Given the description of an element on the screen output the (x, y) to click on. 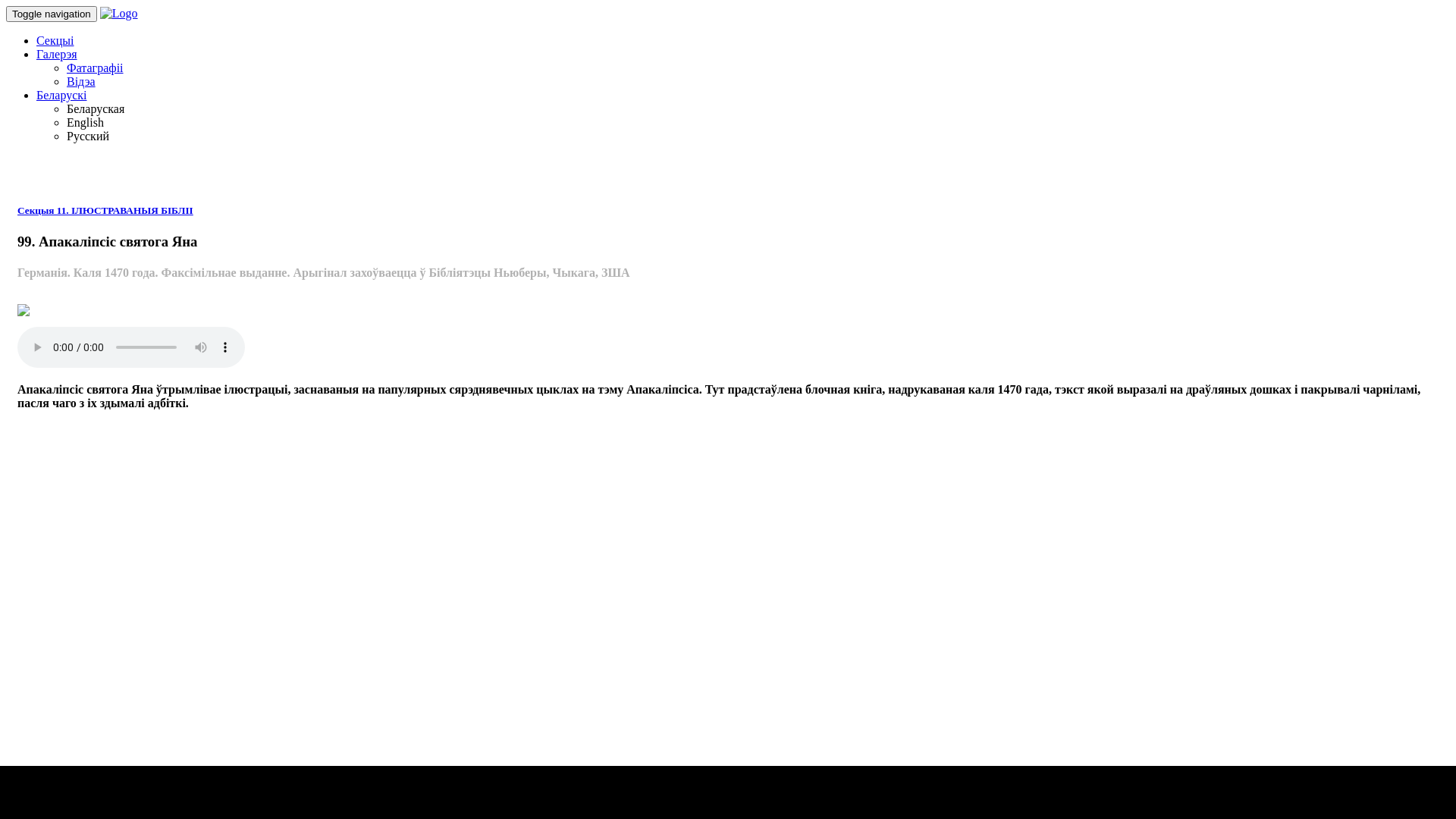
English Element type: text (84, 122)
Toggle navigation Element type: text (51, 13)
